Given the description of an element on the screen output the (x, y) to click on. 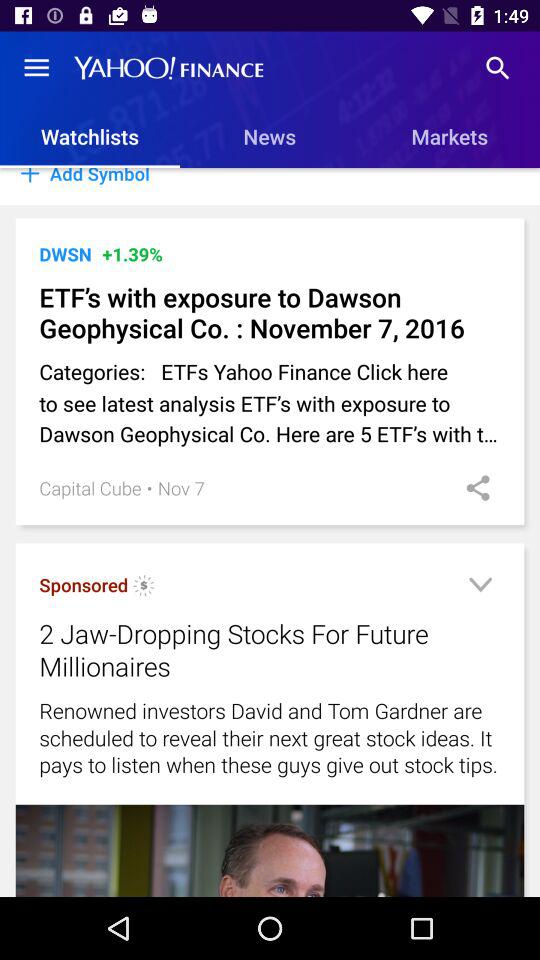
jump to the categories etfs yahoo (269, 402)
